Given the description of an element on the screen output the (x, y) to click on. 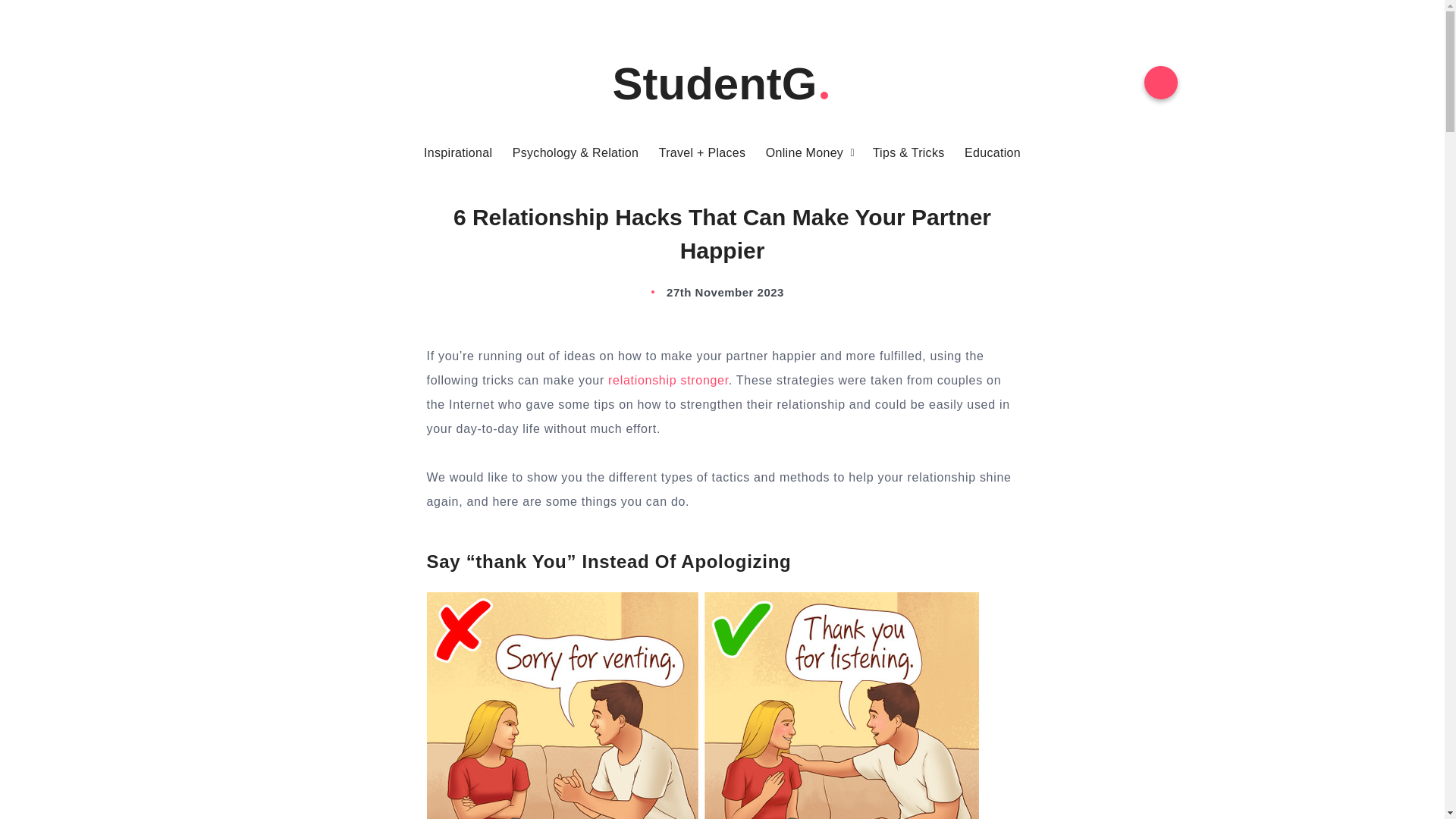
StudentG (722, 83)
Online Money (804, 152)
relationship stronger (668, 379)
Education (991, 152)
Inspirational (457, 152)
